Given the description of an element on the screen output the (x, y) to click on. 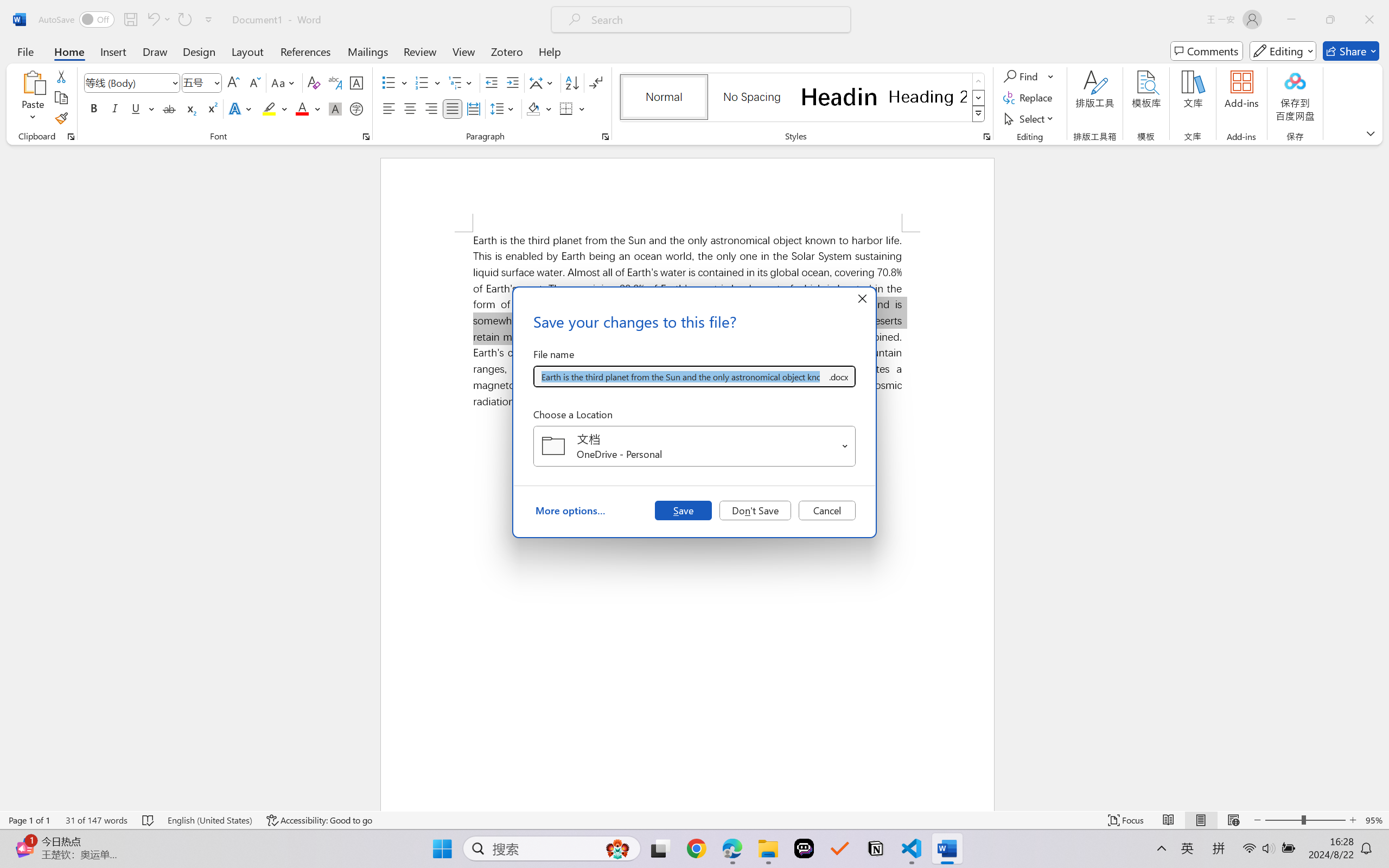
Replace... (1029, 97)
Change Case (284, 82)
Page Number Page 1 of 1 (29, 819)
